Given the description of an element on the screen output the (x, y) to click on. 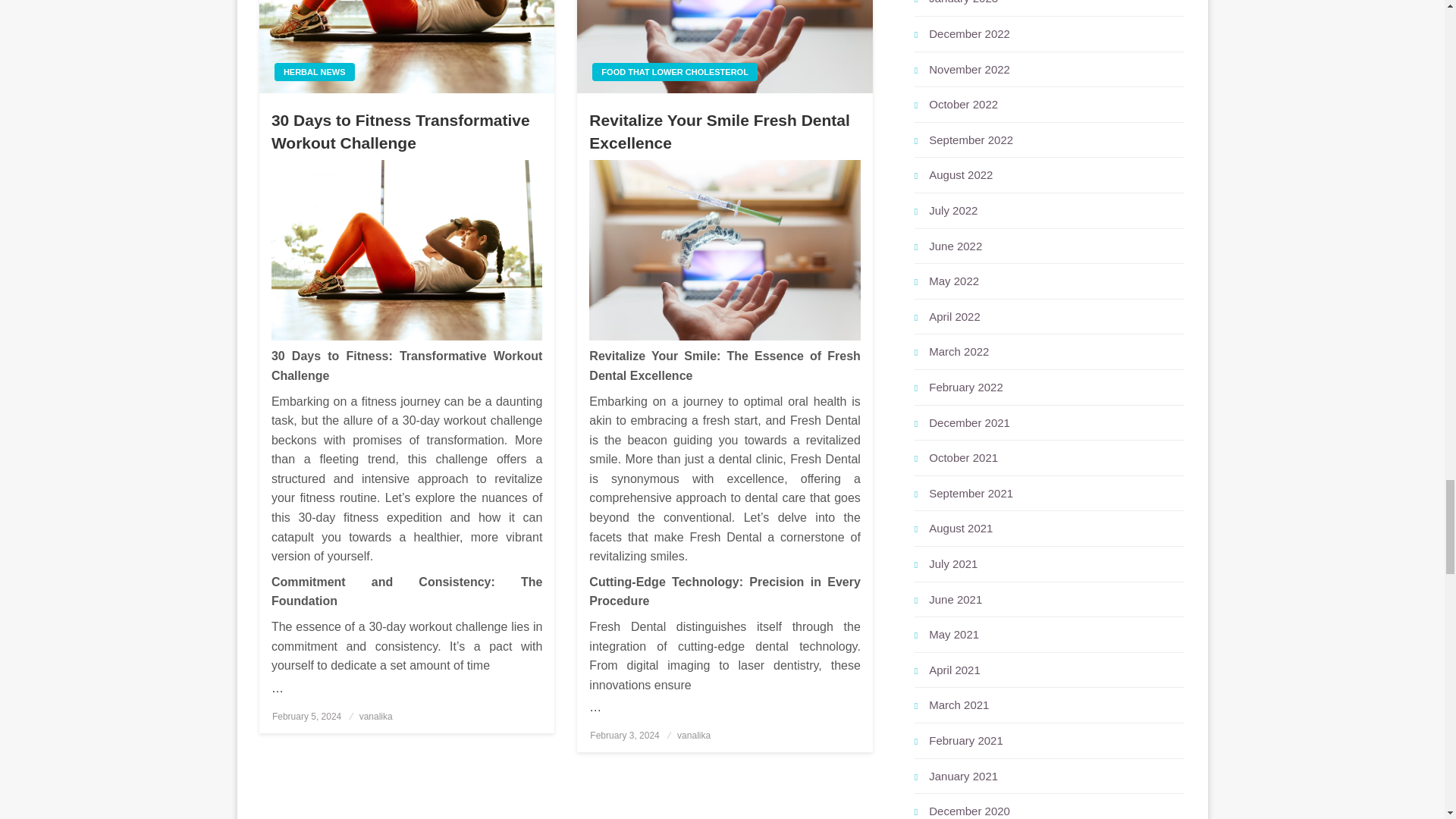
vanalika (376, 716)
vanalika (693, 735)
